Given the description of an element on the screen output the (x, y) to click on. 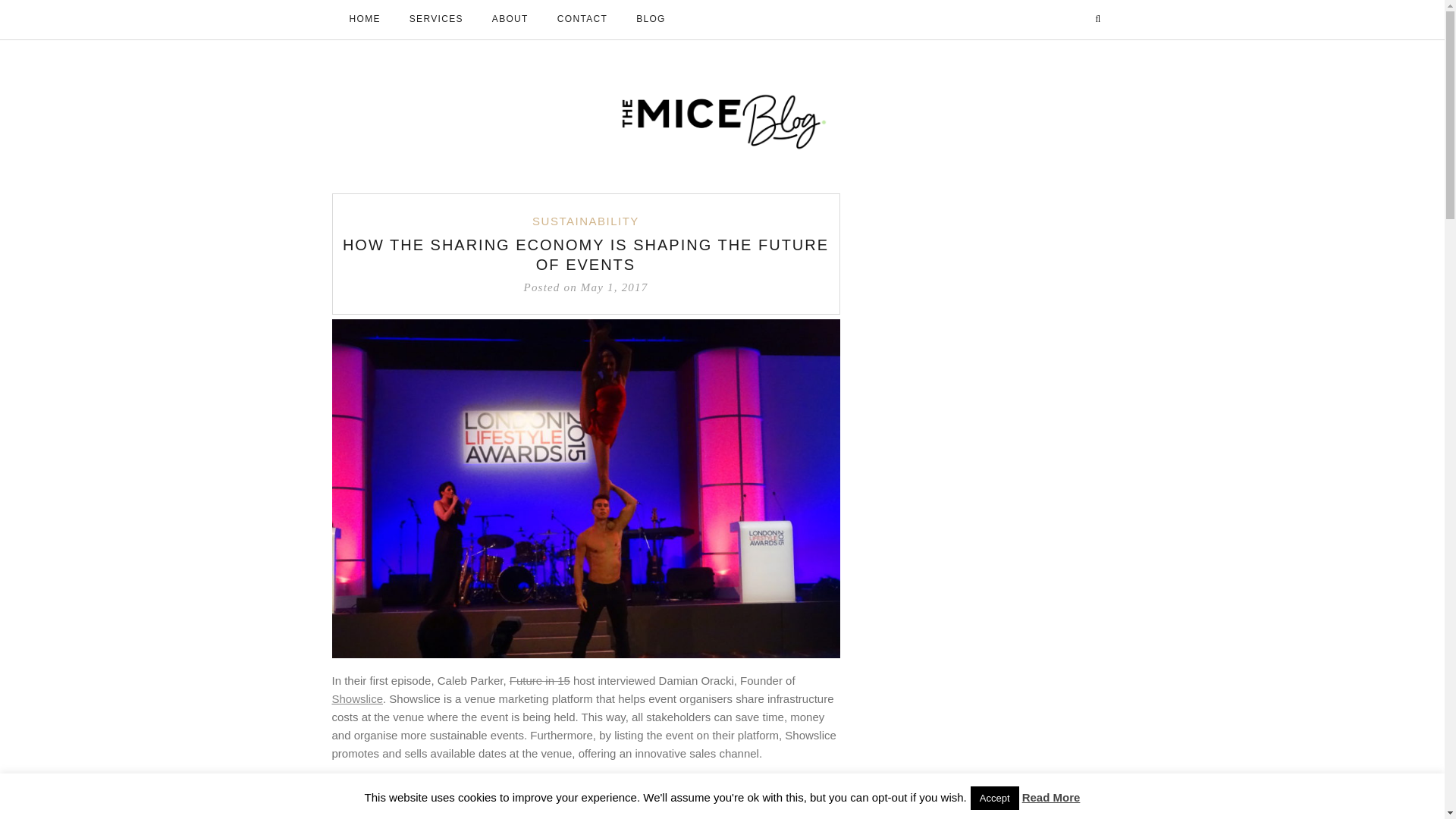
BLOG (651, 19)
Accept (995, 797)
Future in 15 (539, 680)
2017-05-01 18:53:46 (585, 287)
CONTACT (582, 19)
ABOUT (510, 19)
HOW THE SHARING ECONOMY IS SHAPING THE FUTURE OF EVENTS (585, 254)
SUSTAINABILITY (585, 221)
Read More (1051, 797)
SERVICES (436, 19)
Showslice (357, 698)
HOME (363, 19)
